Given the description of an element on the screen output the (x, y) to click on. 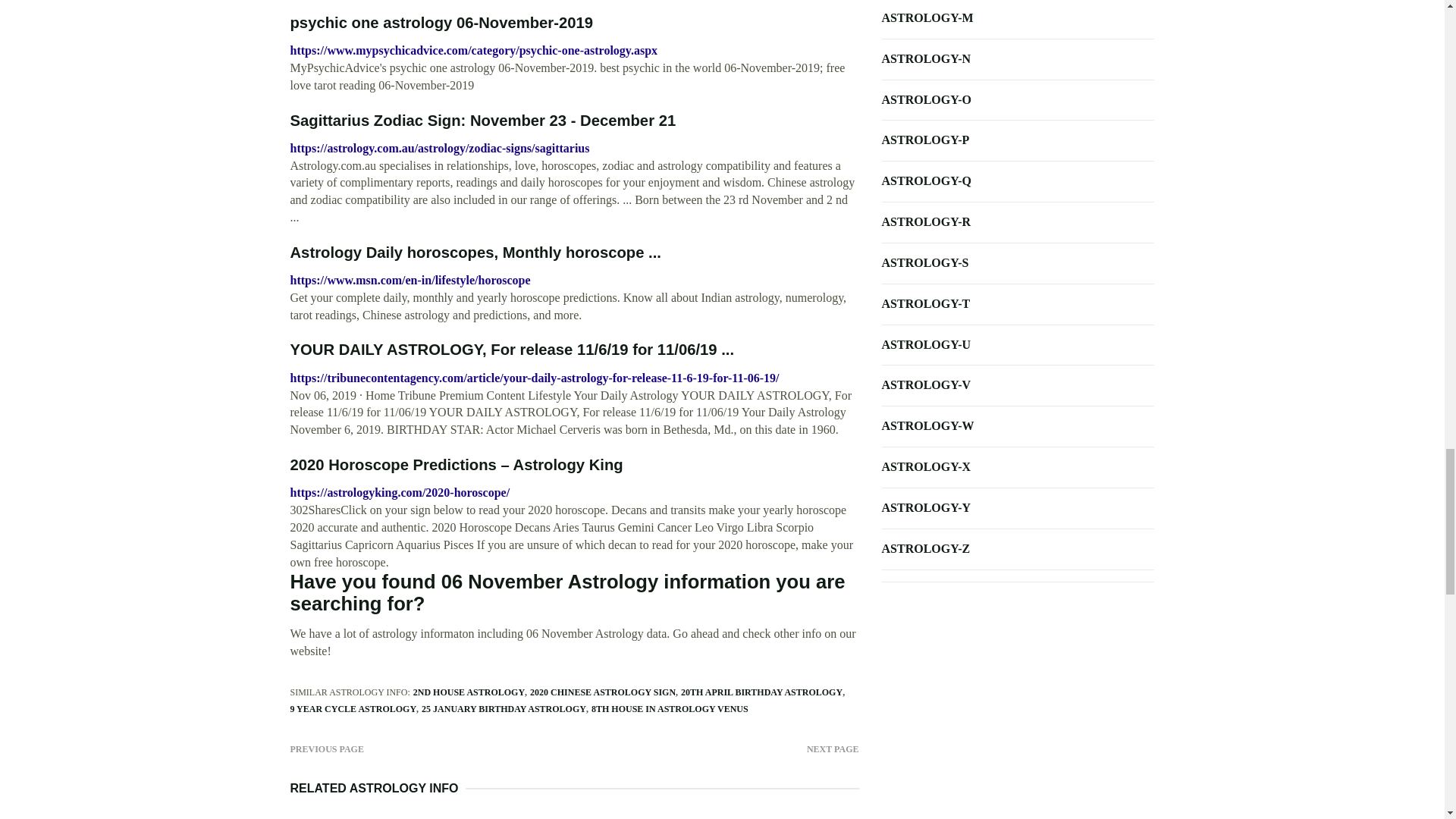
2020 CHINESE ASTROLOGY SIGN (602, 692)
8TH HOUSE IN ASTROLOGY VENUS (669, 708)
Sagittarius Zodiac Sign: November 23 - December 21 (482, 120)
2ND HOUSE ASTROLOGY (468, 692)
NEXT PAGE (832, 748)
20TH APRIL BIRTHDAY ASTROLOGY (762, 692)
psychic one astrology 06-November-2019 (440, 22)
9 YEAR CYCLE ASTROLOGY (352, 708)
PREVIOUS PAGE (325, 748)
Astrology Daily horoscopes, Monthly horoscope ... (475, 252)
25 JANUARY BIRTHDAY ASTROLOGY (504, 708)
